Given the description of an element on the screen output the (x, y) to click on. 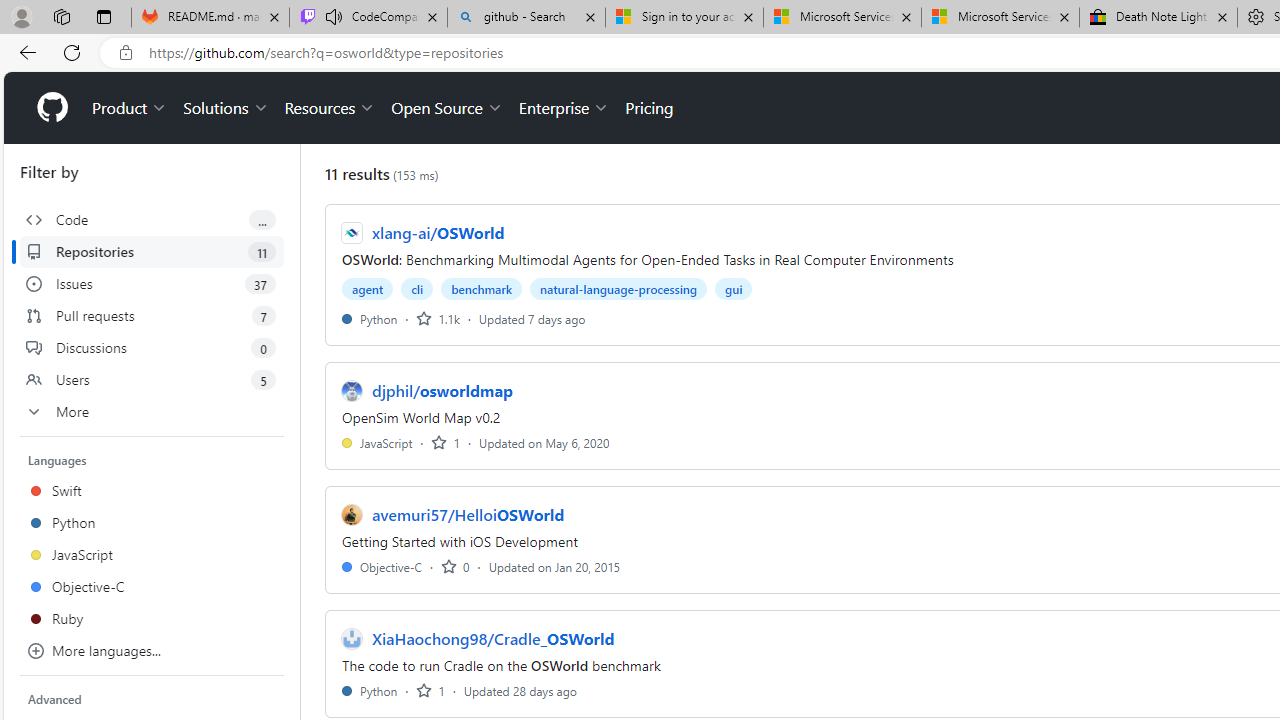
Updated 7 days ago (531, 318)
